Given the description of an element on the screen output the (x, y) to click on. 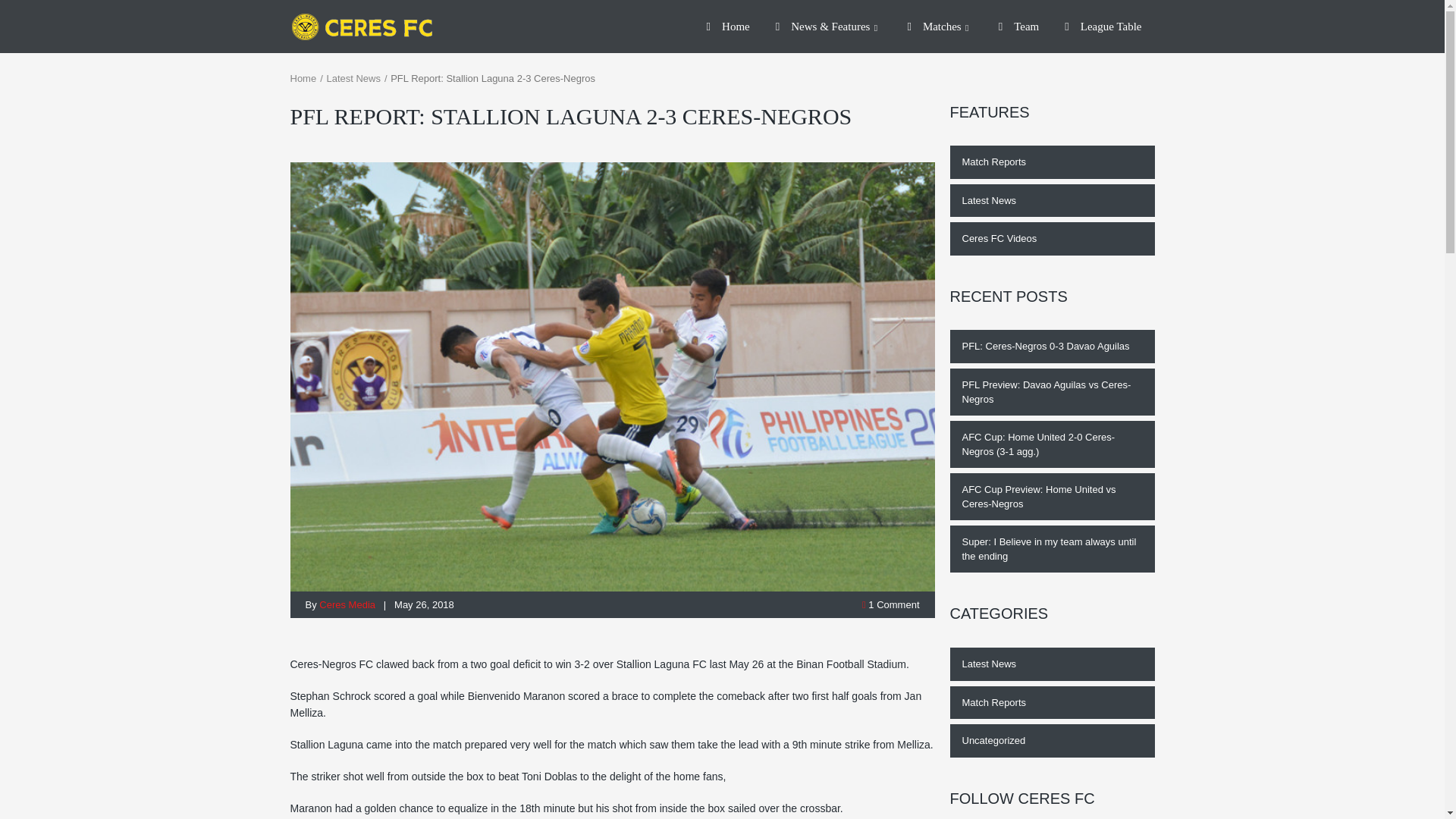
Match Reports (1051, 162)
Latest News (353, 78)
1 Comment (890, 604)
PFL: Ceres-Negros 0-3 Davao Aguilas (1051, 346)
Matches (939, 26)
Ceres FC Videos (1051, 238)
Team (1018, 26)
Ceres FC (367, 26)
Latest News (1051, 200)
View all posts filed under Match Reports (1051, 702)
View all posts filed under Uncategorized (1051, 740)
League Table (1102, 26)
Home (302, 78)
Home (728, 26)
PFL Preview: Davao Aguilas vs Ceres-Negros (1051, 391)
